Given the description of an element on the screen output the (x, y) to click on. 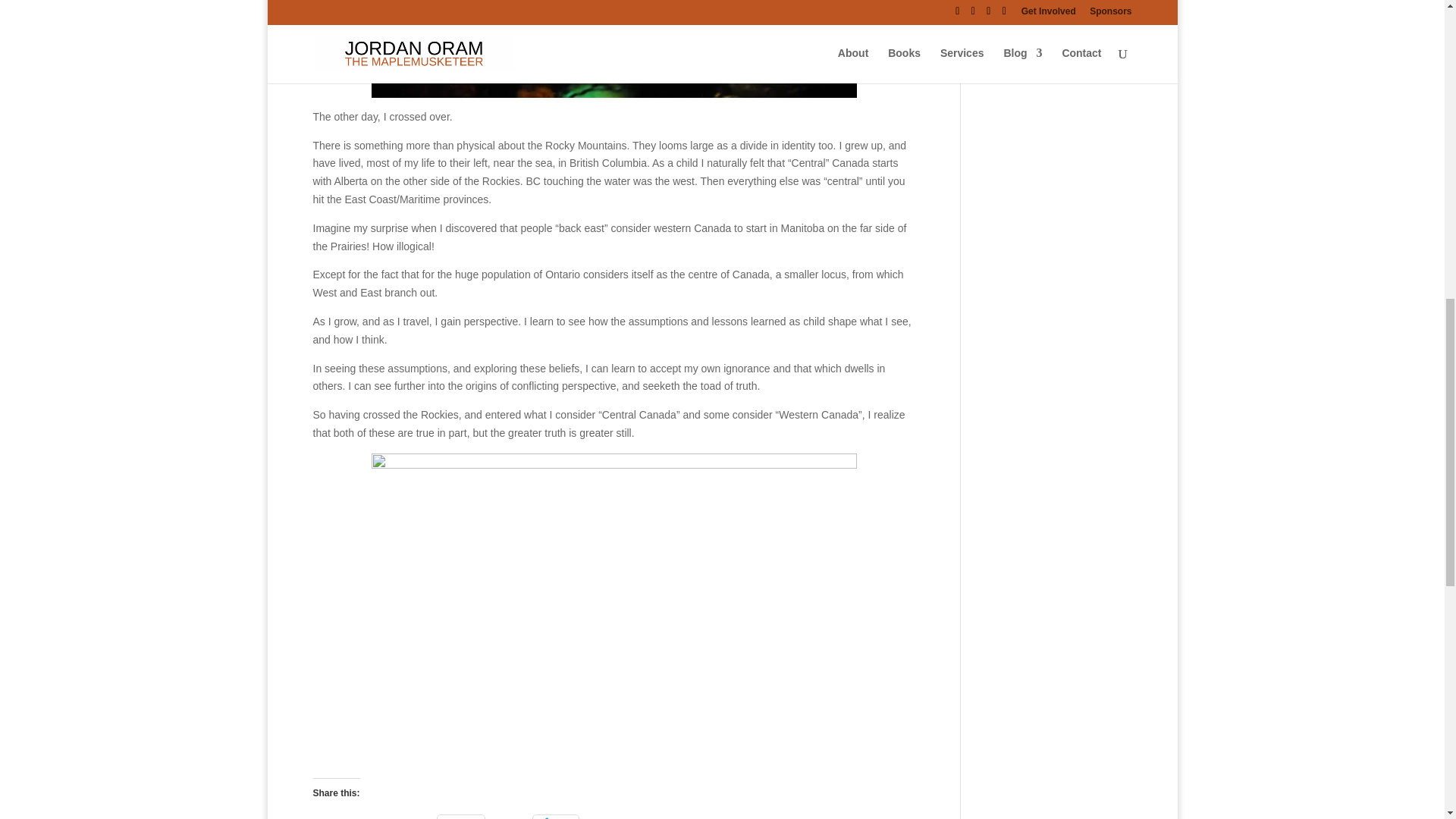
Share on Tumblr (392, 816)
Transitions2 (614, 48)
Click to email a link to a friend (461, 816)
More (555, 816)
Tweet (332, 816)
Share on Tumblr (392, 816)
Email (461, 816)
